Given the description of an element on the screen output the (x, y) to click on. 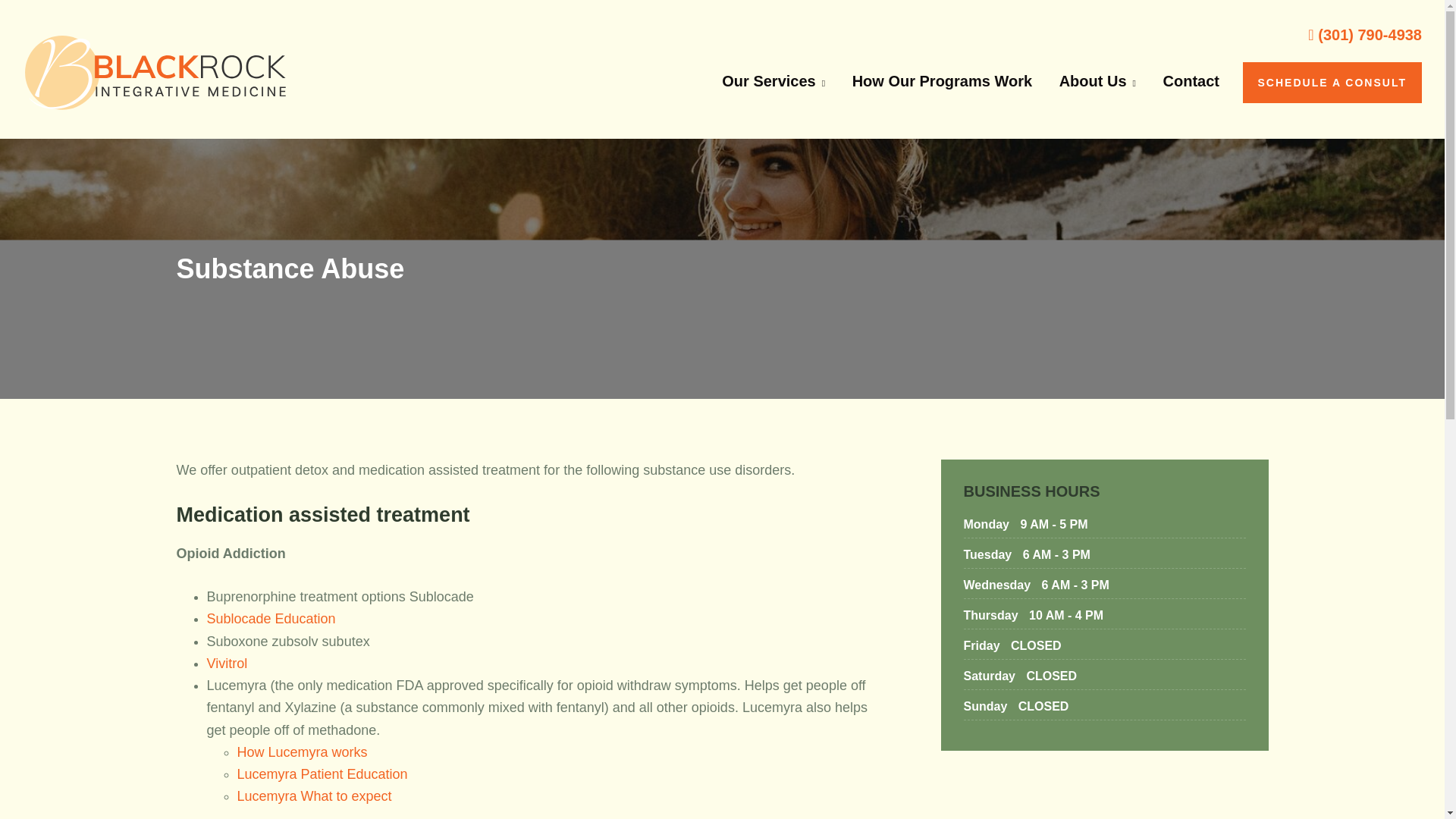
Our Services (772, 80)
About Us (1097, 80)
SCHEDULE A CONSULT (1332, 82)
Contact (1190, 80)
Lucemyra What to expect (313, 795)
How Lucemyra works (300, 752)
Sublocade Education (270, 618)
Lucemyra Patient Education (321, 774)
Vivitrol (226, 663)
How Our Programs Work (942, 80)
